Given the description of an element on the screen output the (x, y) to click on. 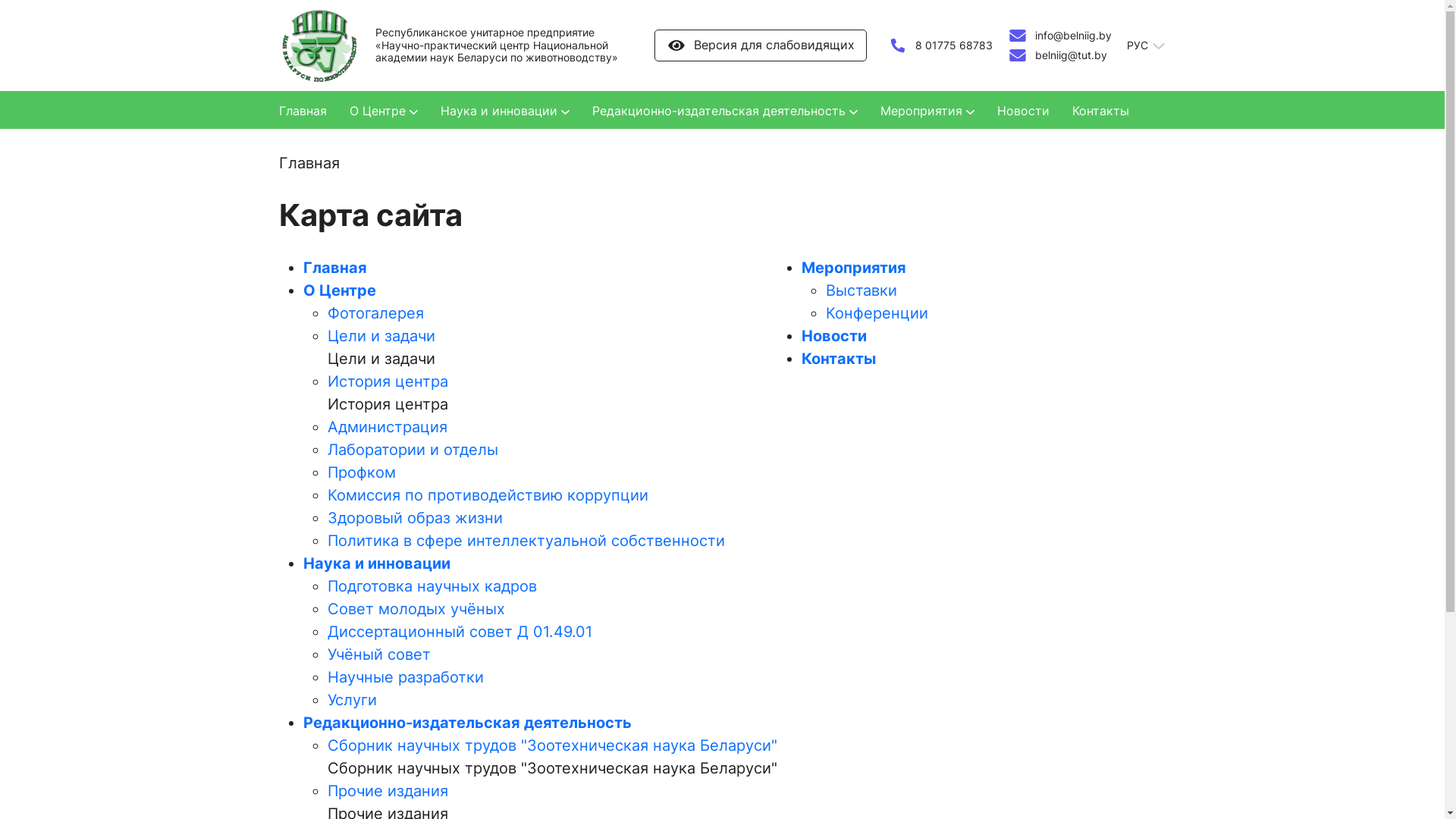
8 01775 68783 Element type: text (939, 45)
info@belniig.by Element type: text (1058, 35)
belniig@tut.by Element type: text (1058, 55)
